Given the description of an element on the screen output the (x, y) to click on. 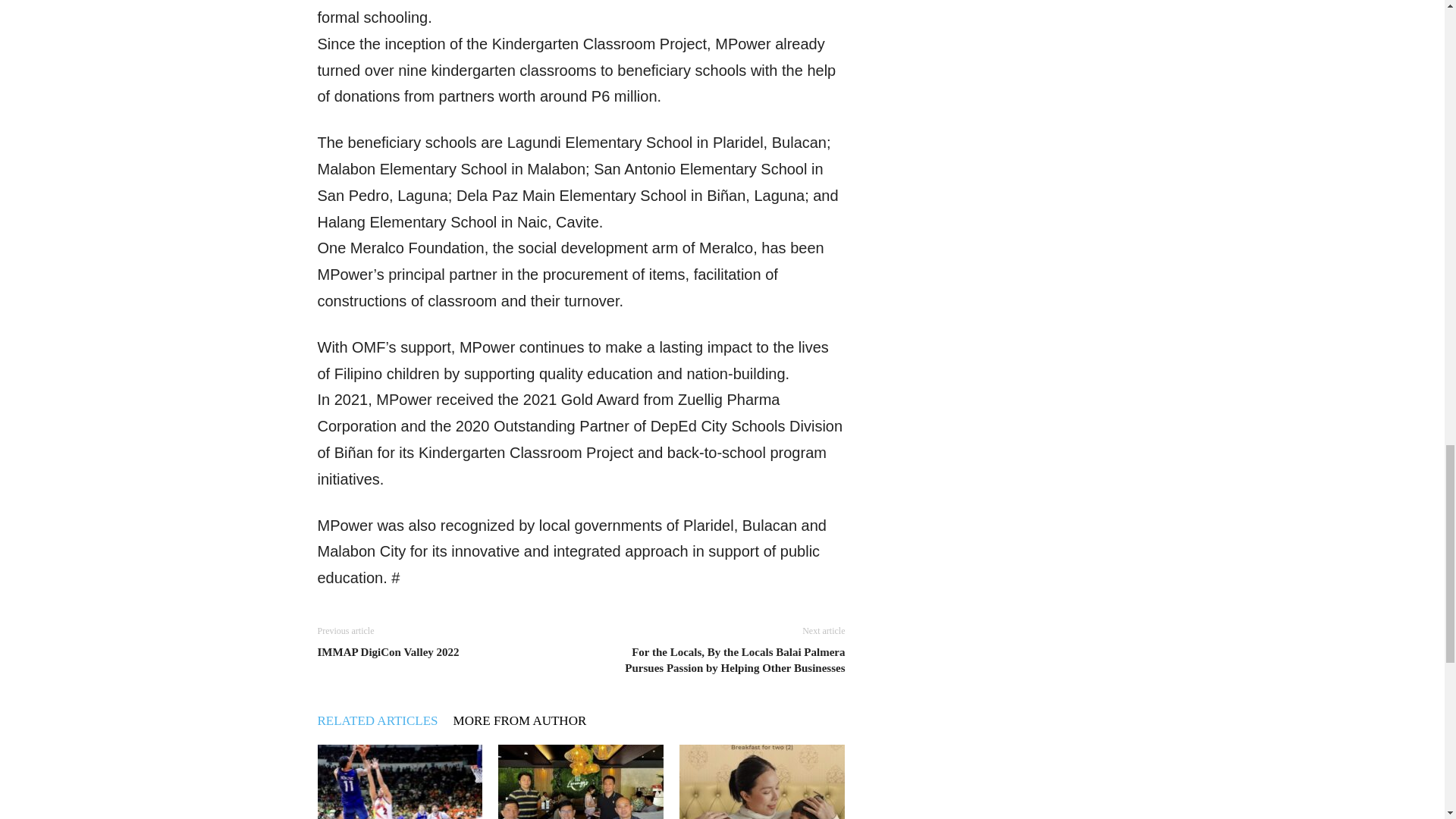
MORE FROM AUTHOR (527, 720)
IMMAP DigiCon Valley 2022 (387, 652)
RELATED ARTICLES (384, 720)
